Given the description of an element on the screen output the (x, y) to click on. 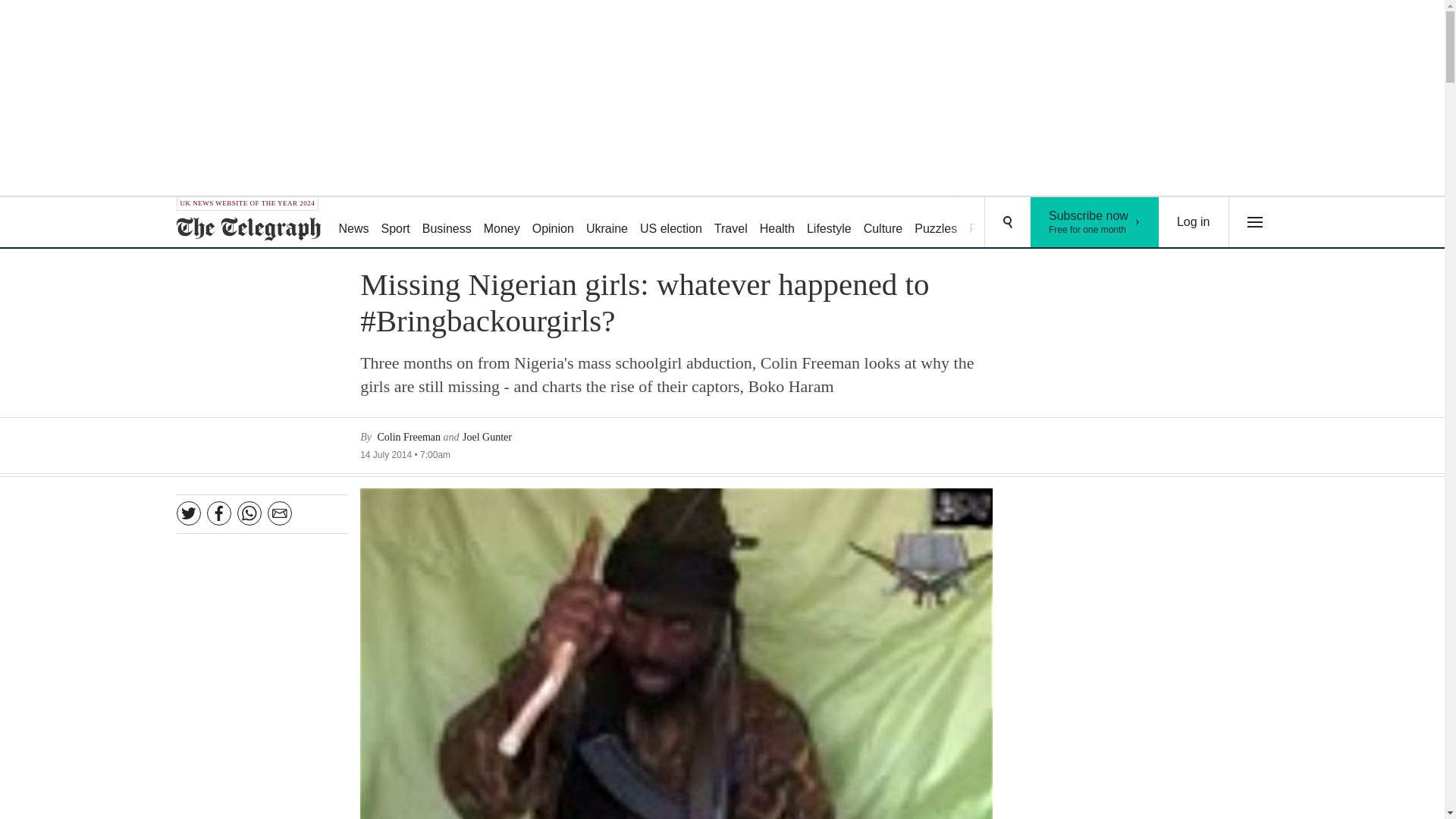
Lifestyle (828, 223)
US election (670, 223)
Money (501, 223)
Culture (882, 223)
Opinion (552, 223)
Health (1094, 222)
Podcasts (777, 223)
Puzzles (993, 223)
Business (935, 223)
